Given the description of an element on the screen output the (x, y) to click on. 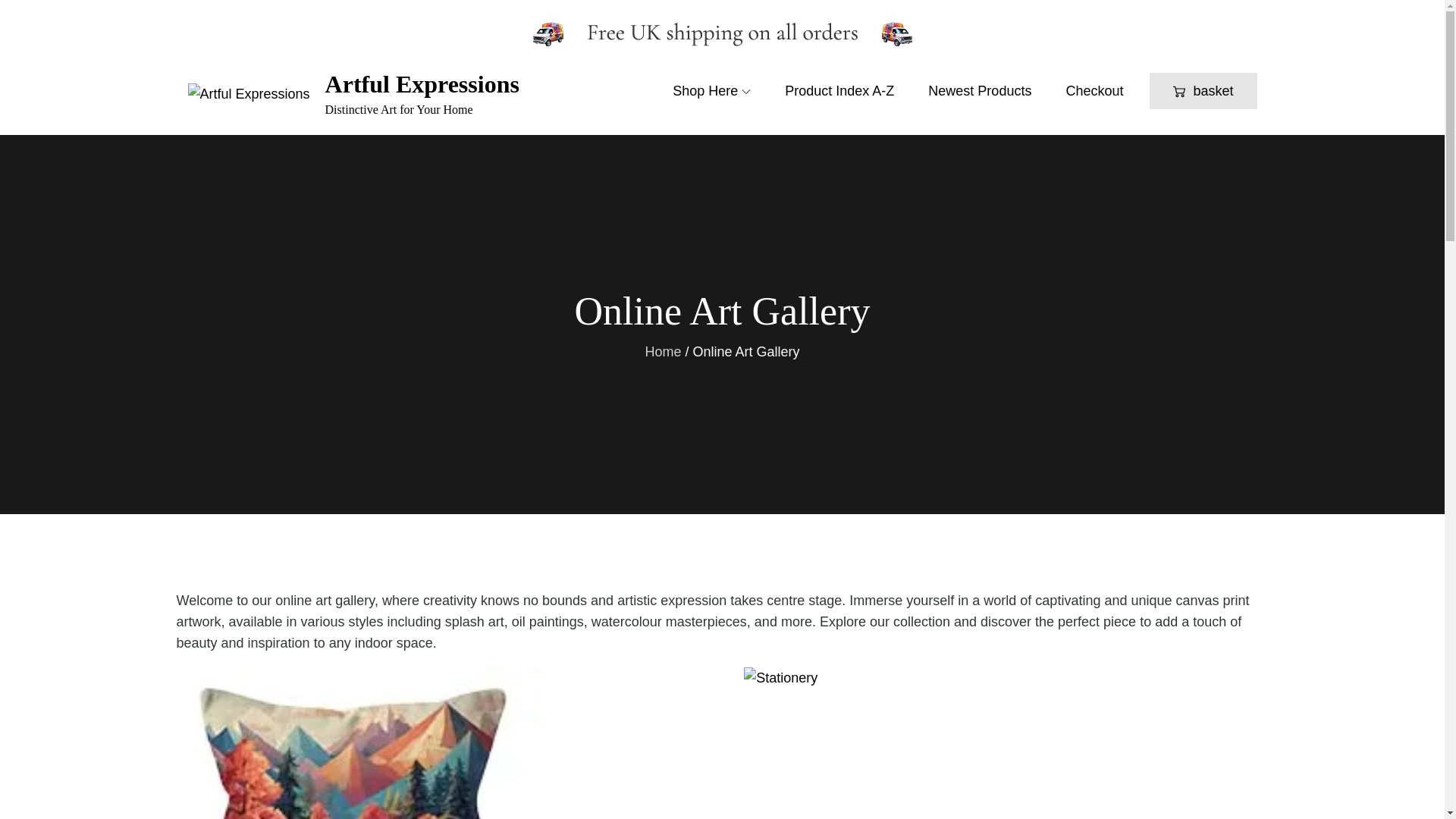
Artful Expressions (421, 83)
Checkout (1094, 90)
Newest Products (979, 90)
Home (663, 352)
Shop Here (711, 90)
basket (1203, 90)
Product Index A-Z (839, 90)
